Given the description of an element on the screen output the (x, y) to click on. 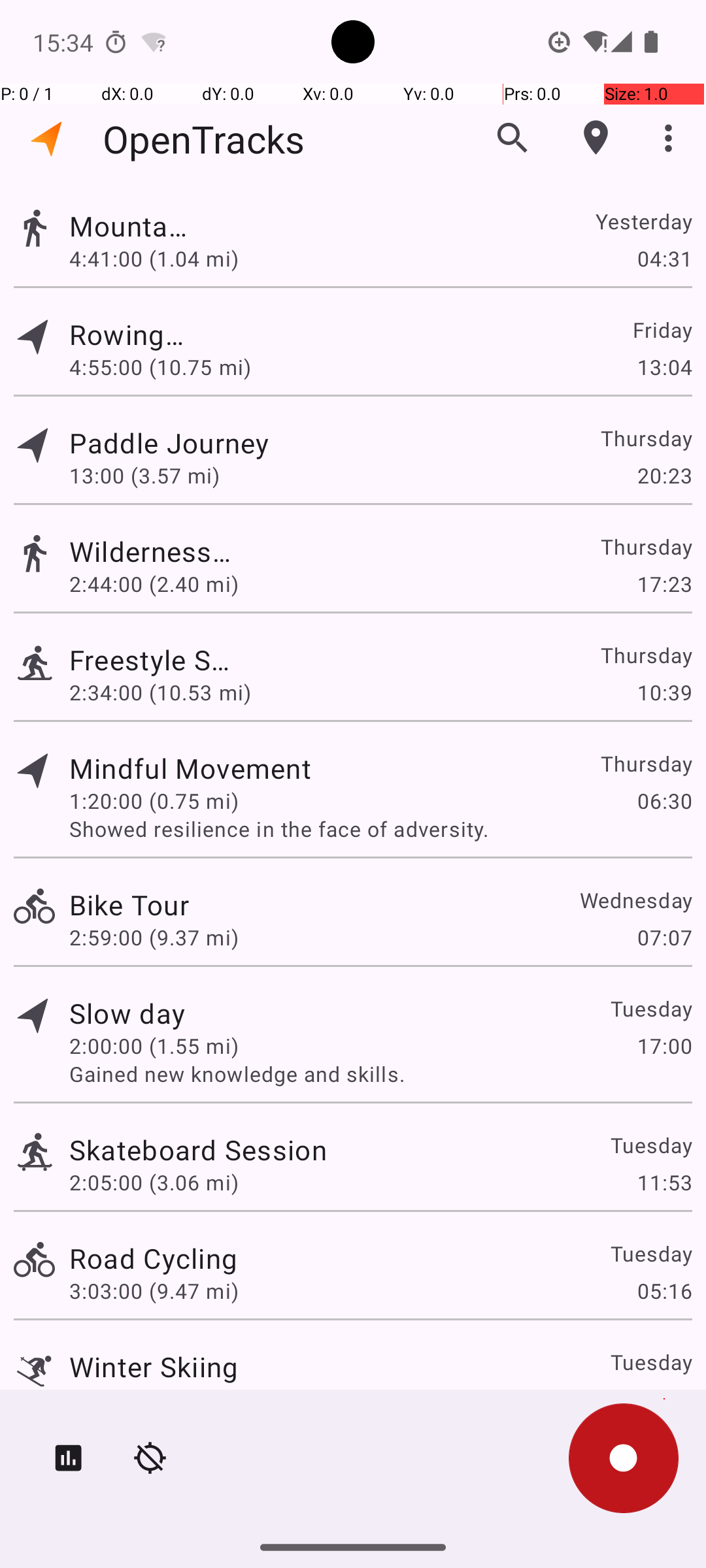
Mountain Trek Element type: android.widget.TextView (128, 225)
4:41:00 (1.04 mi) Element type: android.widget.TextView (153, 258)
04:31 Element type: android.widget.TextView (664, 258)
Rowing Excursion Element type: android.widget.TextView (126, 333)
4:55:00 (10.75 mi) Element type: android.widget.TextView (159, 366)
13:04 Element type: android.widget.TextView (664, 366)
13:00 (3.57 mi) Element type: android.widget.TextView (153, 475)
20:23 Element type: android.widget.TextView (664, 475)
Wilderness Hike Element type: android.widget.TextView (152, 550)
2:44:00 (2.40 mi) Element type: android.widget.TextView (153, 583)
17:23 Element type: android.widget.TextView (664, 583)
Freestyle Session Element type: android.widget.TextView (153, 659)
2:34:00 (10.53 mi) Element type: android.widget.TextView (159, 692)
10:39 Element type: android.widget.TextView (664, 692)
Mindful Movement Element type: android.widget.TextView (189, 767)
1:20:00 (0.75 mi) Element type: android.widget.TextView (153, 800)
06:30 Element type: android.widget.TextView (664, 800)
Showed resilience in the face of adversity. Element type: android.widget.TextView (380, 828)
Bike Tour Element type: android.widget.TextView (128, 904)
2:59:00 (9.37 mi) Element type: android.widget.TextView (153, 937)
07:07 Element type: android.widget.TextView (664, 937)
2:00:00 (1.55 mi) Element type: android.widget.TextView (153, 1045)
Gained new knowledge and skills. Element type: android.widget.TextView (380, 1073)
Skateboard Session Element type: android.widget.TextView (197, 1149)
2:05:00 (3.06 mi) Element type: android.widget.TextView (153, 1182)
11:53 Element type: android.widget.TextView (664, 1182)
3:03:00 (9.47 mi) Element type: android.widget.TextView (153, 1290)
05:16 Element type: android.widget.TextView (664, 1290)
Winter Skiing Element type: android.widget.TextView (153, 1366)
1:12:00 (9.82 mi) Element type: android.widget.TextView (153, 1399)
04:25 Element type: android.widget.TextView (664, 1399)
